Given the description of an element on the screen output the (x, y) to click on. 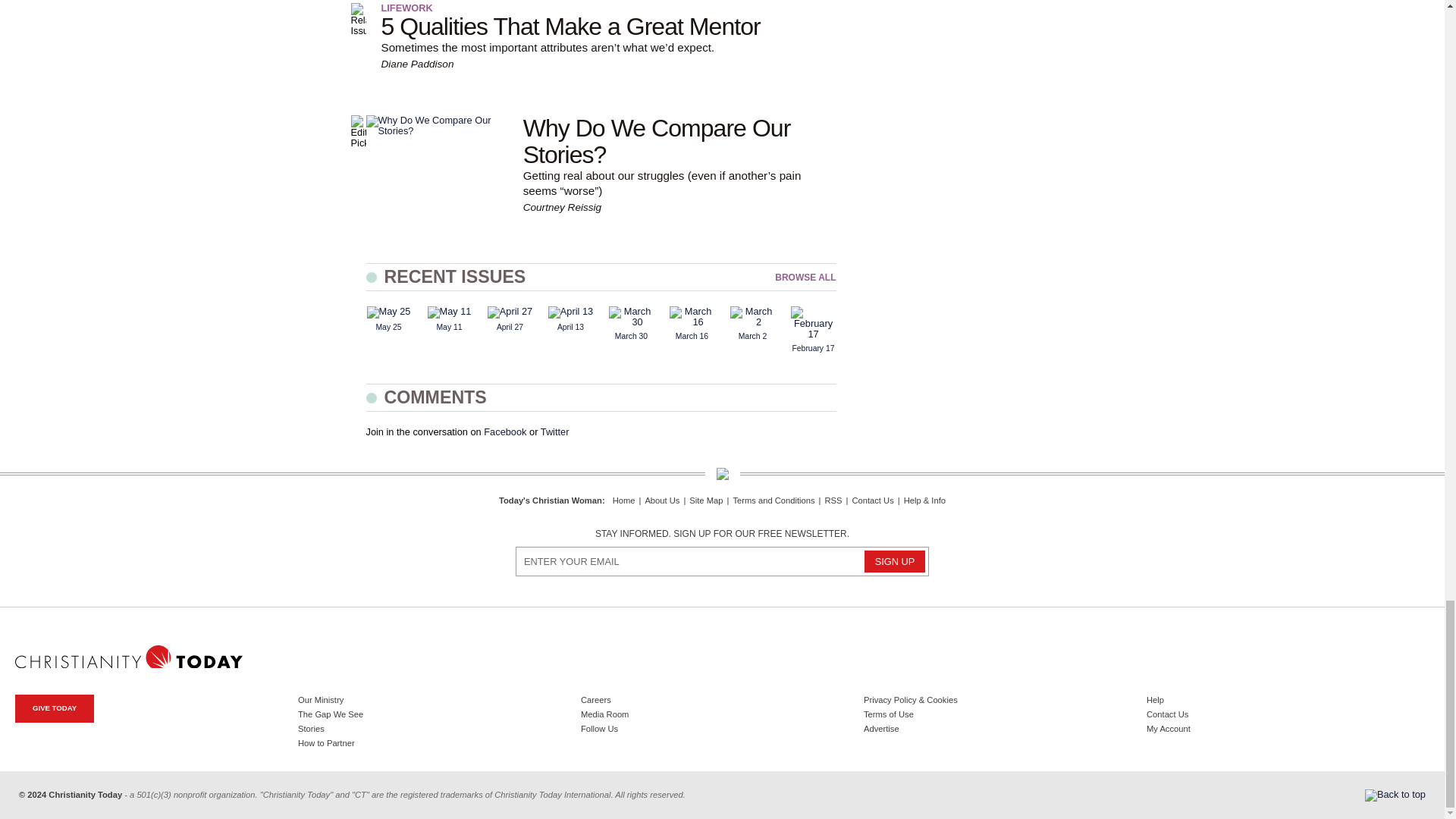
April 13 (570, 312)
Sign Up (894, 561)
May 25 (388, 312)
May 11 (449, 312)
Why Do We Compare Our Stories? (435, 125)
April 27 (509, 312)
